Given the description of an element on the screen output the (x, y) to click on. 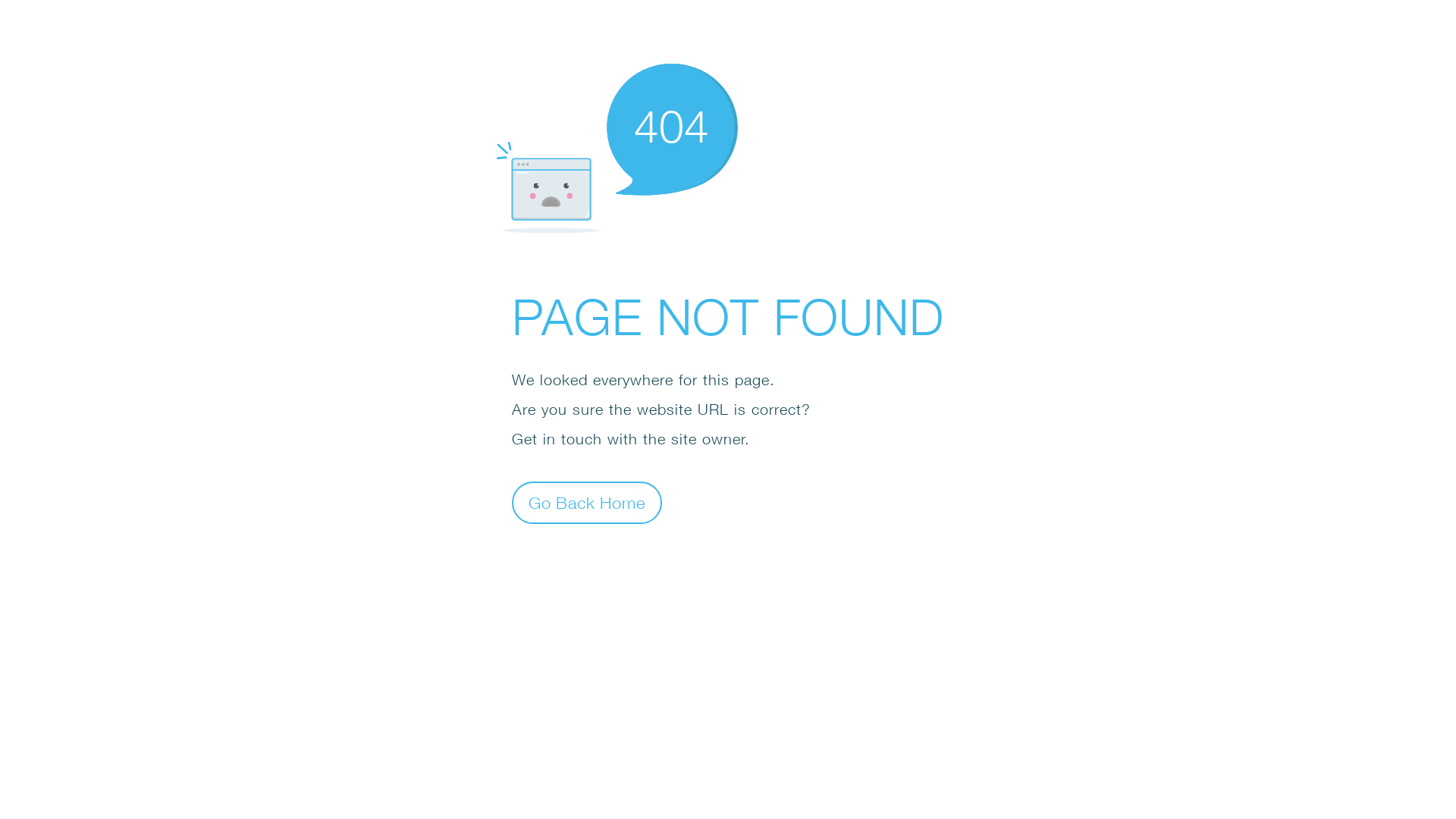
Go Back Home Element type: text (586, 502)
